Given the description of an element on the screen output the (x, y) to click on. 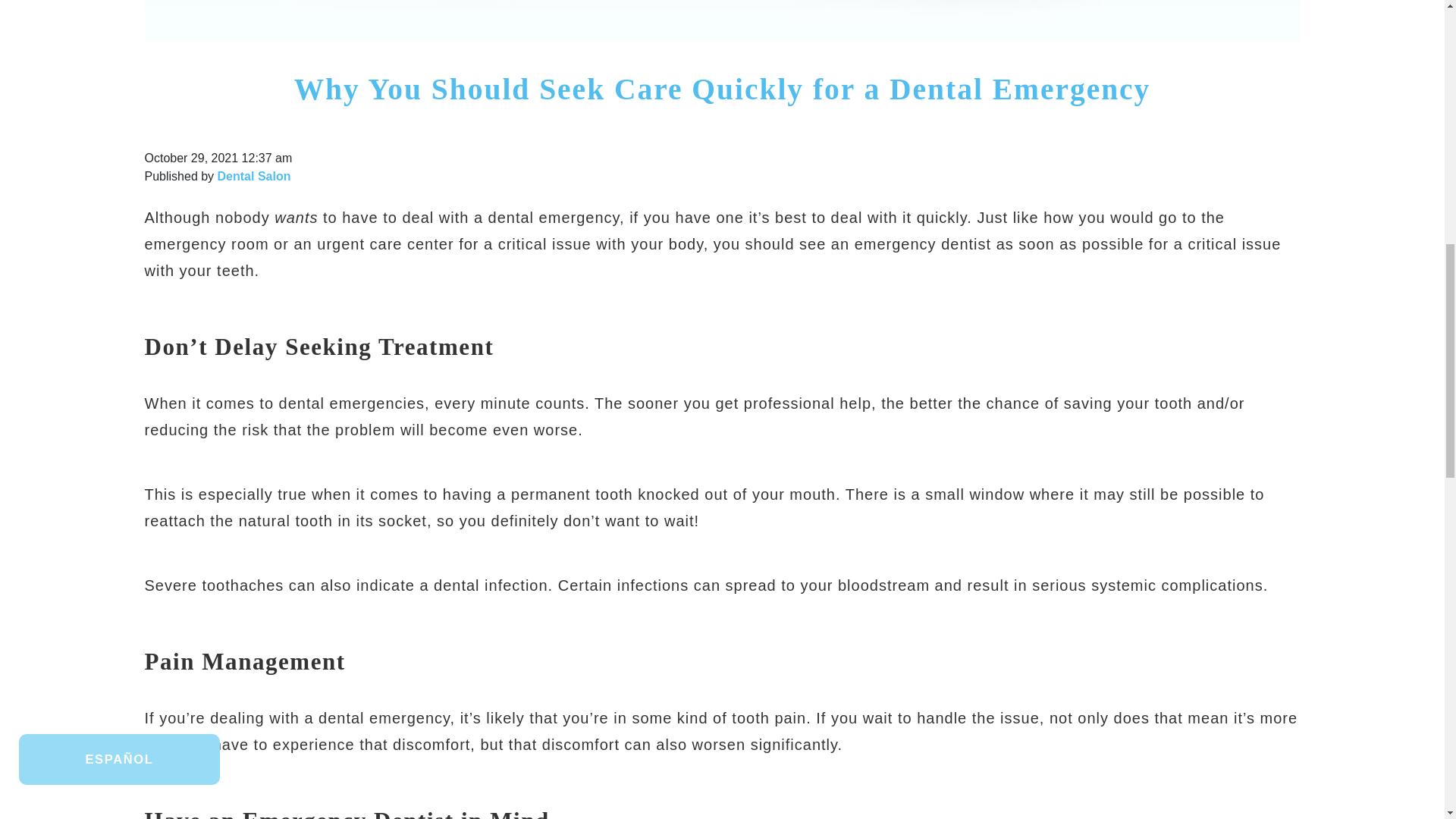
Why You Should Seek Care Quickly for a Dental Emergency (722, 89)
Posts by Dental Salon (253, 175)
